Given the description of an element on the screen output the (x, y) to click on. 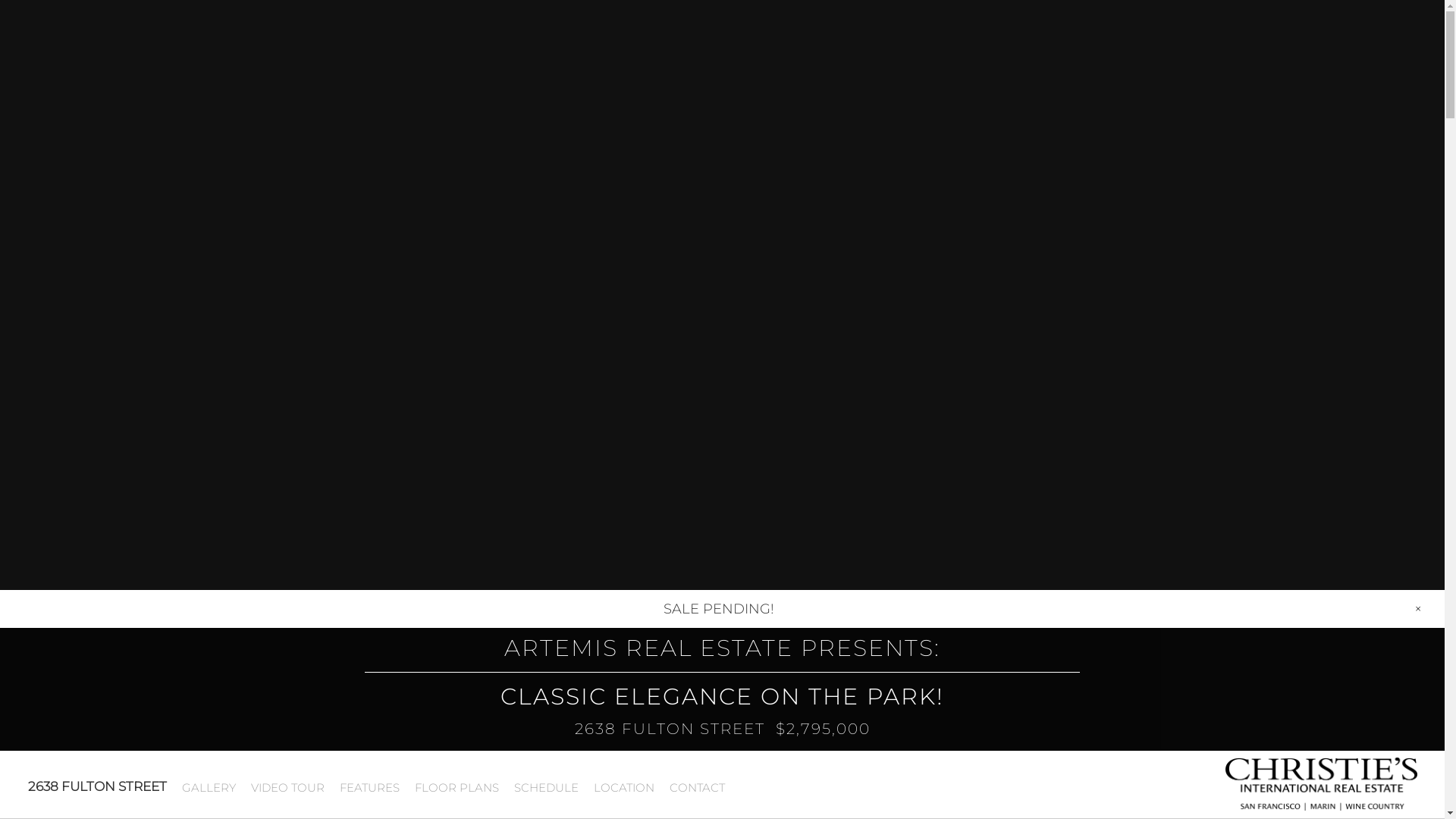
2638 FULTON STREET Element type: text (96, 785)
FEATURES Element type: text (368, 787)
2638 FULTON STREET  $2,795,000 Element type: text (722, 728)
CONTACT Element type: text (696, 787)
VIDEO TOUR Element type: text (286, 787)
LOCATION Element type: text (623, 787)
SCHEDULE Element type: text (545, 787)
FLOOR PLANS Element type: text (455, 787)
GALLERY Element type: text (207, 787)
